Given the description of an element on the screen output the (x, y) to click on. 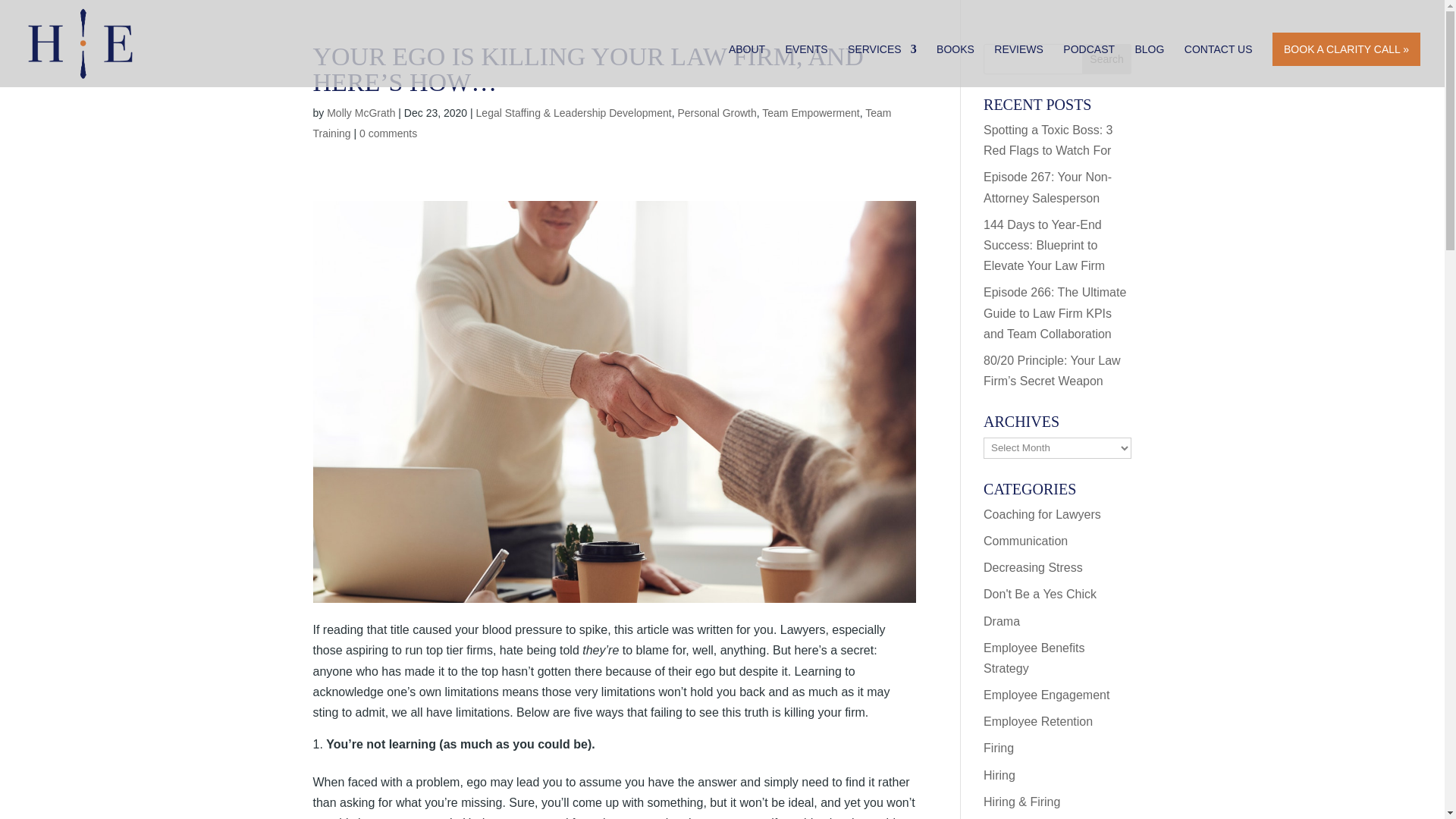
Search (1106, 59)
Drama (1002, 620)
Search (1106, 59)
EVENTS (807, 65)
REVIEWS (1018, 65)
Episode 267: Your Non-Attorney Salesperson (1048, 186)
Employee Benefits Strategy (1034, 657)
Decreasing Stress (1033, 567)
Team Empowerment (810, 112)
SERVICES (882, 65)
